Given the description of an element on the screen output the (x, y) to click on. 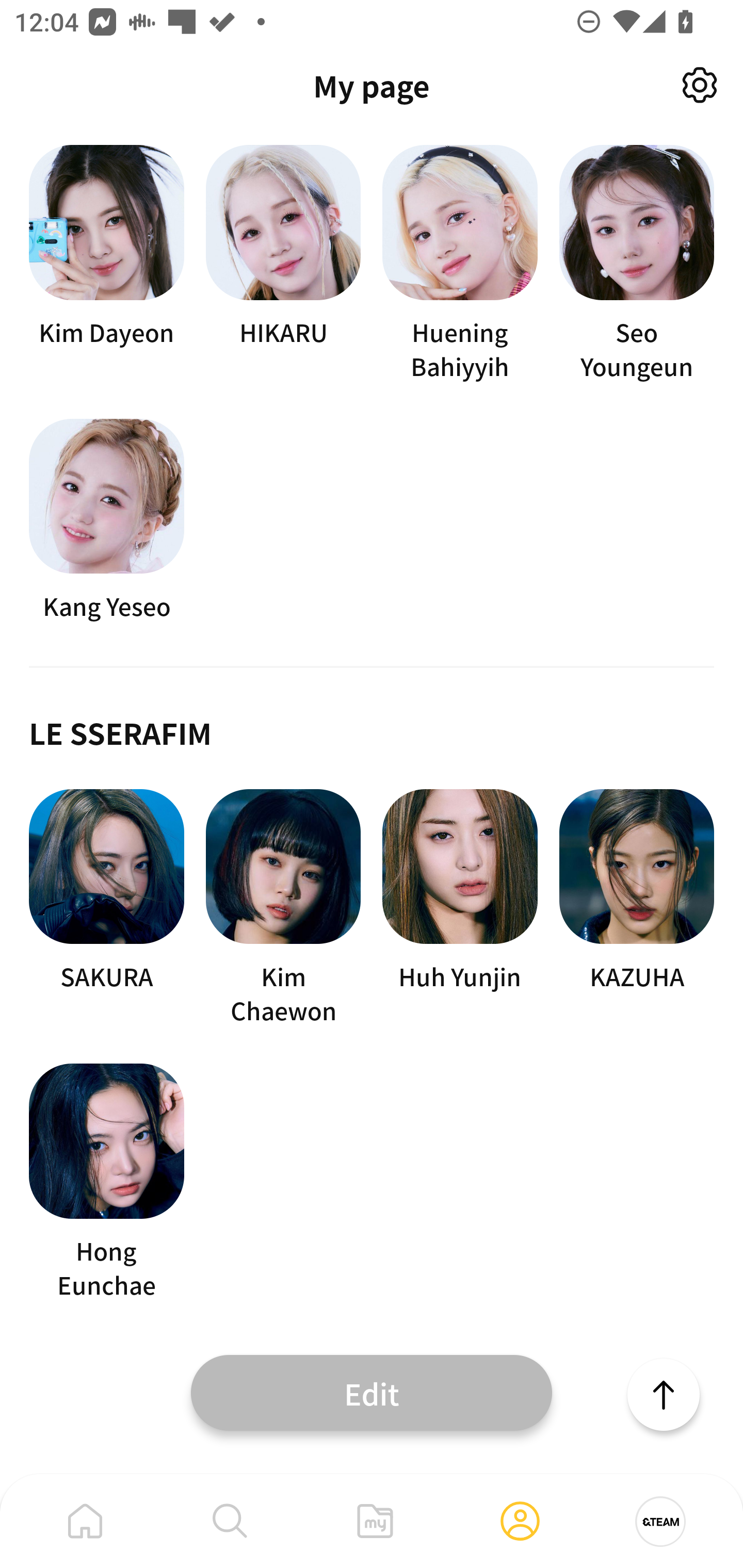
Kim Dayeon (106, 263)
HIKARU (282, 263)
Huening Bahiyyih (459, 263)
Seo Youngeun (636, 263)
Kang Yeseo (106, 520)
SAKURA (106, 907)
Kim Chaewon (282, 907)
Huh Yunjin (459, 907)
KAZUHA (636, 907)
Hong Eunchae (106, 1182)
Edit (371, 1392)
